Given the description of an element on the screen output the (x, y) to click on. 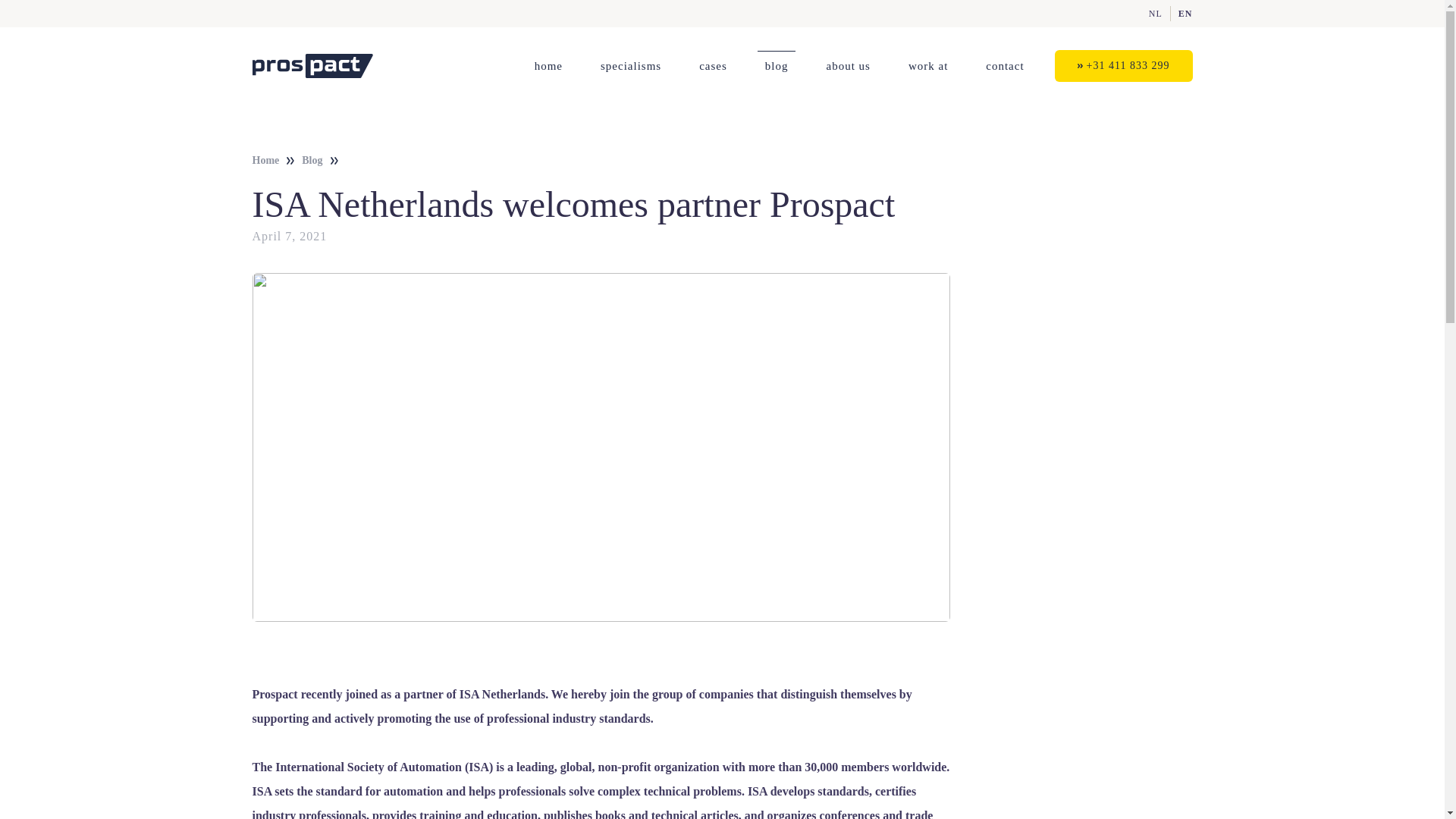
blog (776, 65)
Home (265, 160)
EN (1184, 13)
work at (928, 65)
cases (713, 65)
Blog (311, 160)
specialisms (630, 65)
about us (847, 65)
contact (1004, 65)
home (548, 65)
